Given the description of an element on the screen output the (x, y) to click on. 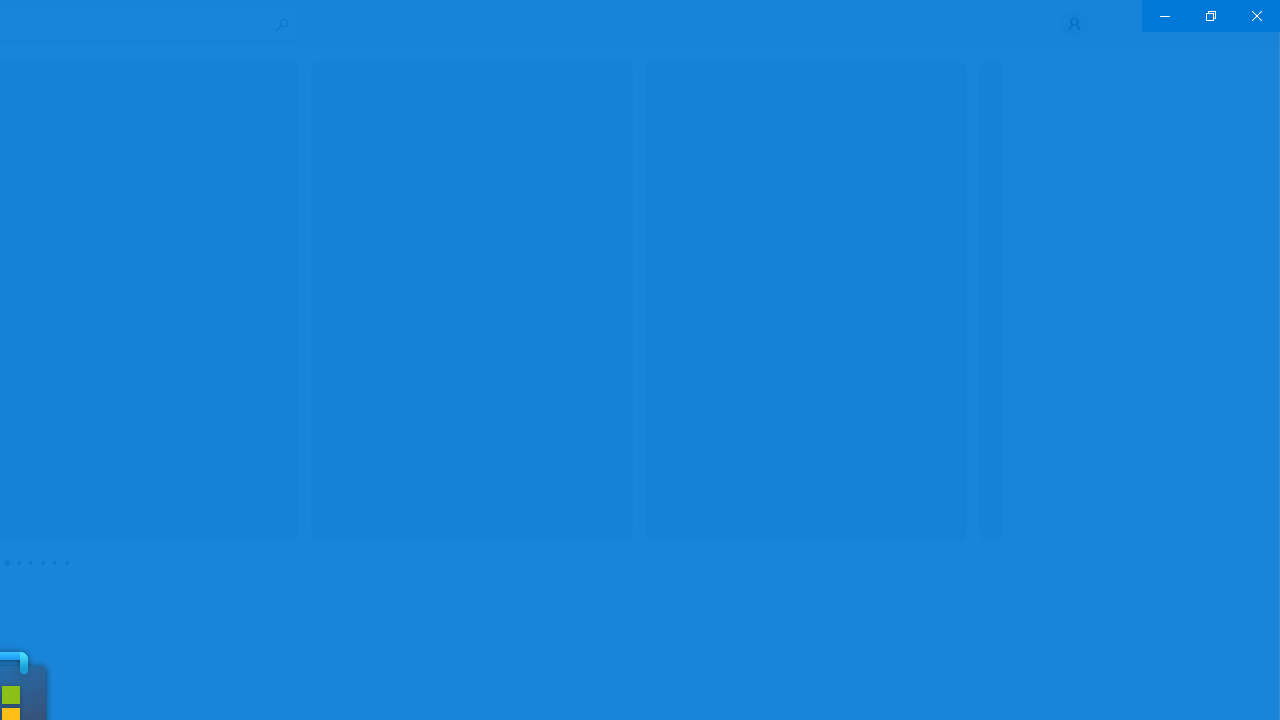
Pager (36, 562)
